Given the description of an element on the screen output the (x, y) to click on. 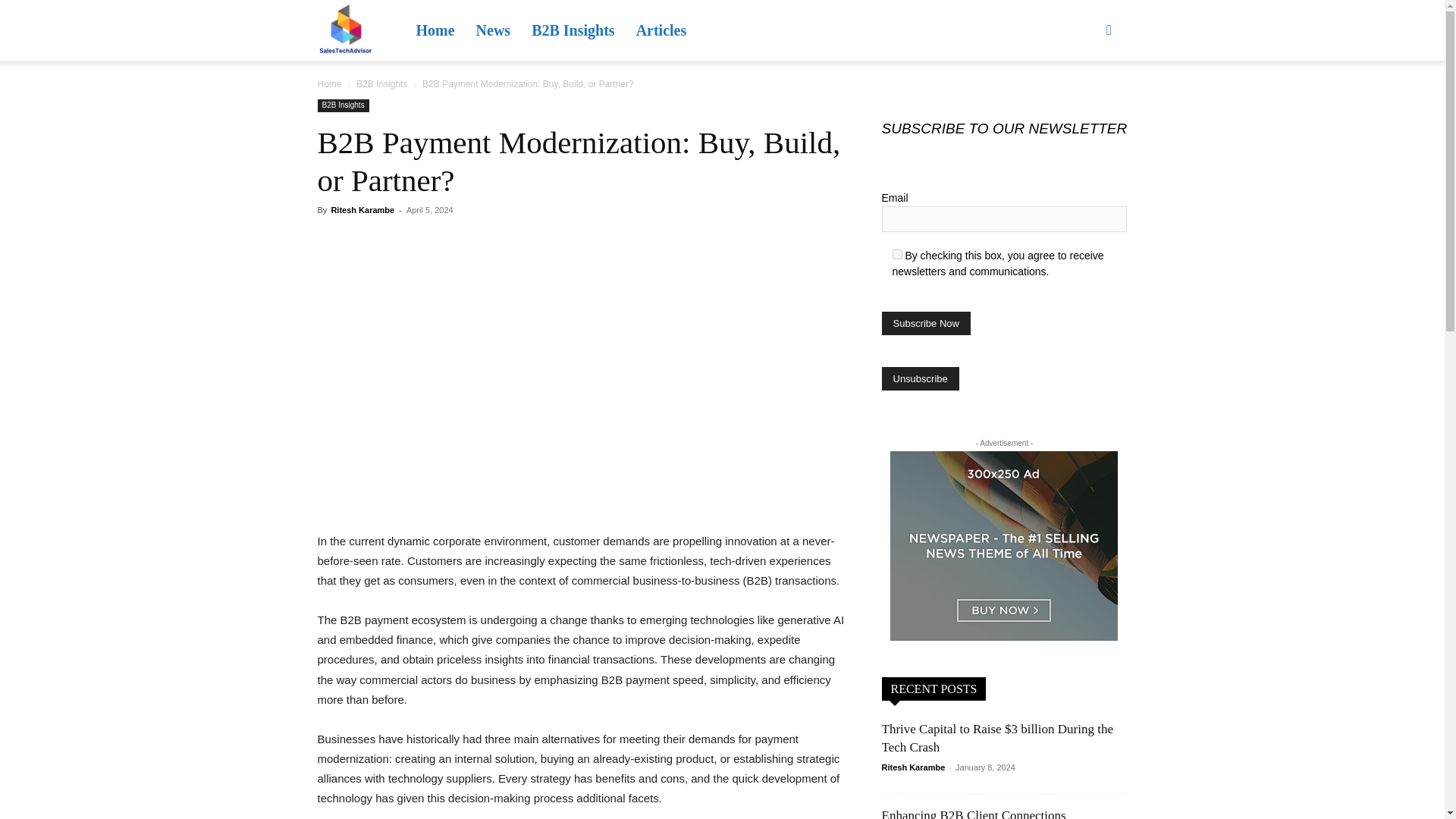
B2B Insights (381, 83)
Subscribe Now (924, 323)
Salestechadvisor (344, 30)
Ritesh Karambe (362, 209)
Articles (661, 30)
Unsubscribe (919, 378)
News (493, 30)
Home (328, 83)
Home (434, 30)
Salestechadvisor (344, 30)
B2B Insights (342, 105)
B2B Insights (573, 30)
Search (1085, 102)
